Given the description of an element on the screen output the (x, y) to click on. 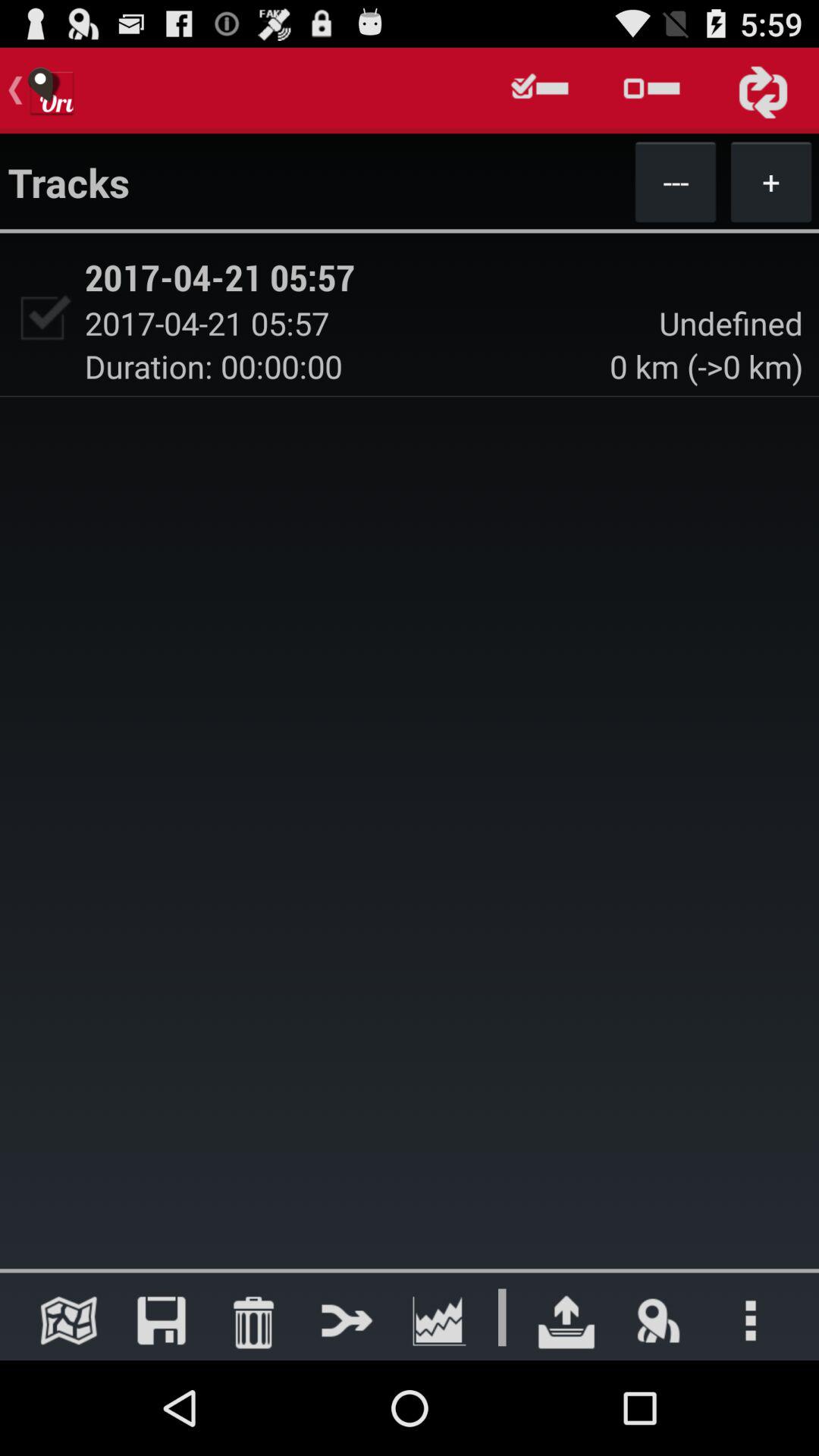
choose app next to tracks icon (675, 181)
